Given the description of an element on the screen output the (x, y) to click on. 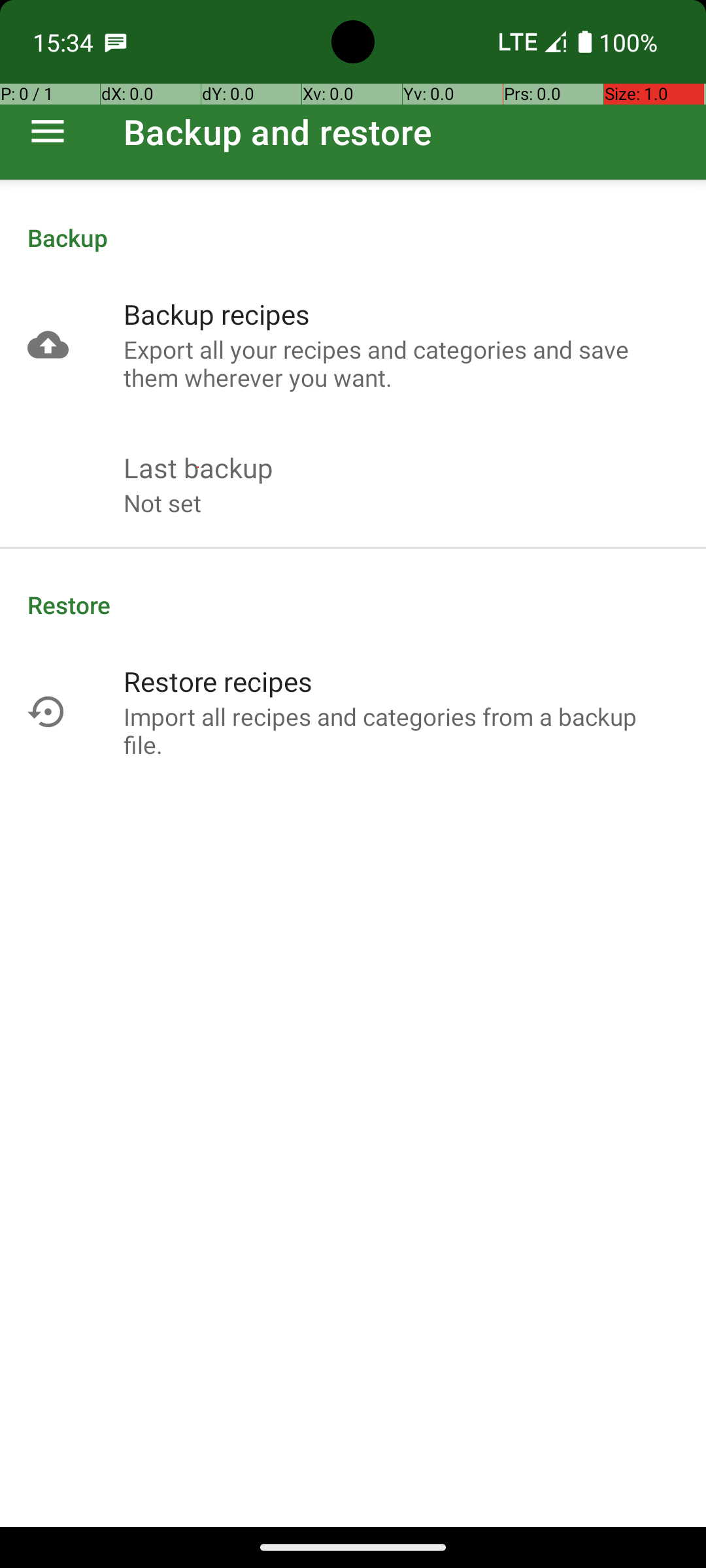
Backup recipes Element type: android.widget.TextView (216, 313)
Export all your recipes and categories and save them wherever you want. Element type: android.widget.TextView (400, 362)
Last backup Element type: android.widget.TextView (198, 467)
Not set Element type: android.widget.TextView (162, 502)
Restore Element type: android.widget.TextView (352, 604)
Restore recipes Element type: android.widget.TextView (217, 680)
Import all recipes and categories from a backup file. Element type: android.widget.TextView (400, 730)
